Given the description of an element on the screen output the (x, y) to click on. 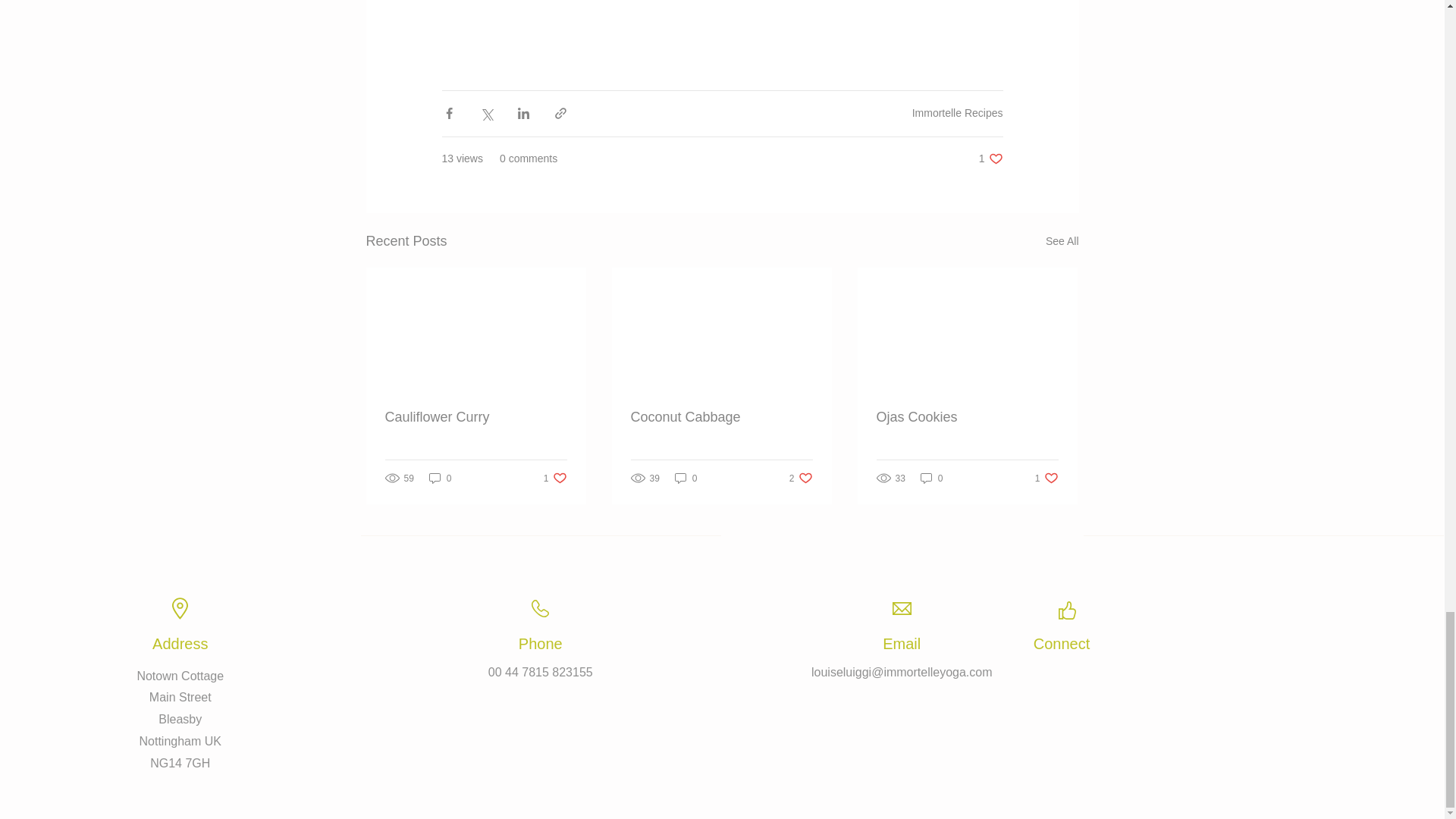
See All (555, 477)
Immortelle Recipes (990, 157)
0 (1061, 240)
Cauliflower Curry (957, 112)
0 (685, 477)
Coconut Cabbage (476, 416)
